Given the description of an element on the screen output the (x, y) to click on. 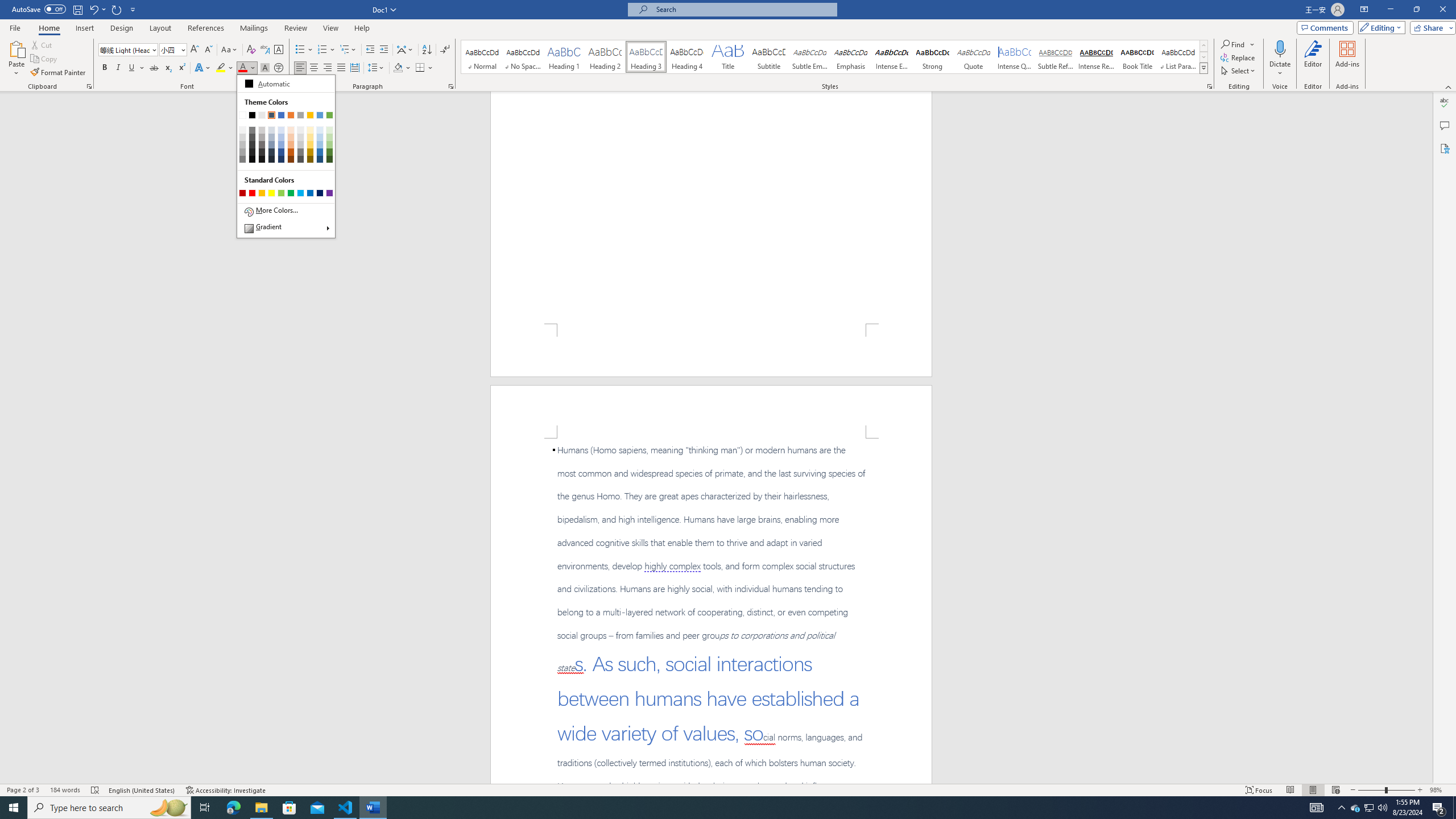
Intense Emphasis (891, 56)
Layout (160, 28)
Quote (973, 56)
Insert (83, 28)
Phonetic Guide... (264, 49)
Editor (1312, 58)
AutomationID: 4105 (1316, 807)
Help (361, 28)
Footer -Section 1- (710, 349)
AutomationID: QuickStylesGallery (834, 56)
Align Left (300, 67)
Paragraph... (450, 85)
Open (182, 49)
Title (727, 56)
